Given the description of an element on the screen output the (x, y) to click on. 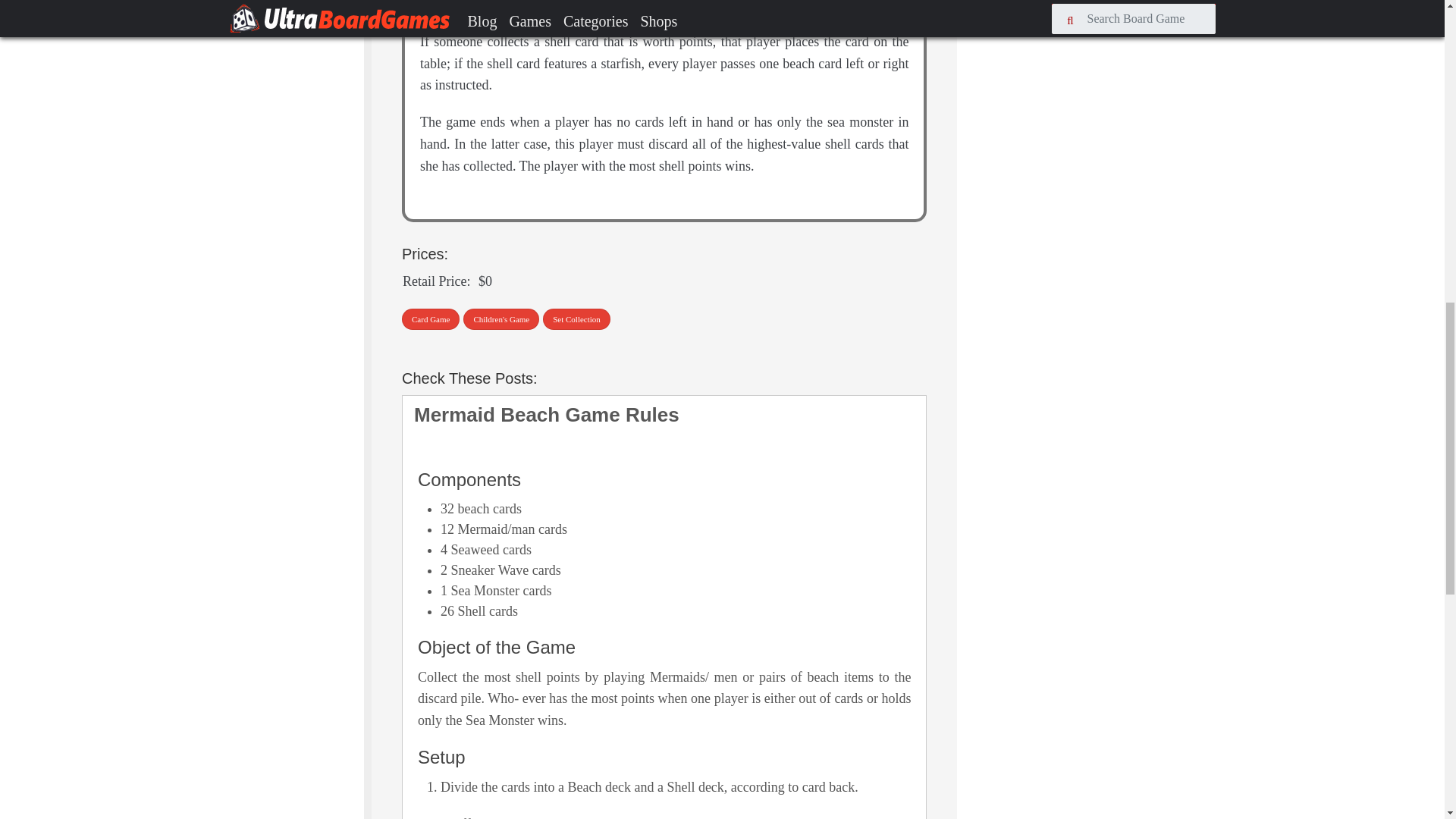
Card Game (430, 319)
Set Collection (576, 319)
Children's Game (500, 319)
